Given the description of an element on the screen output the (x, y) to click on. 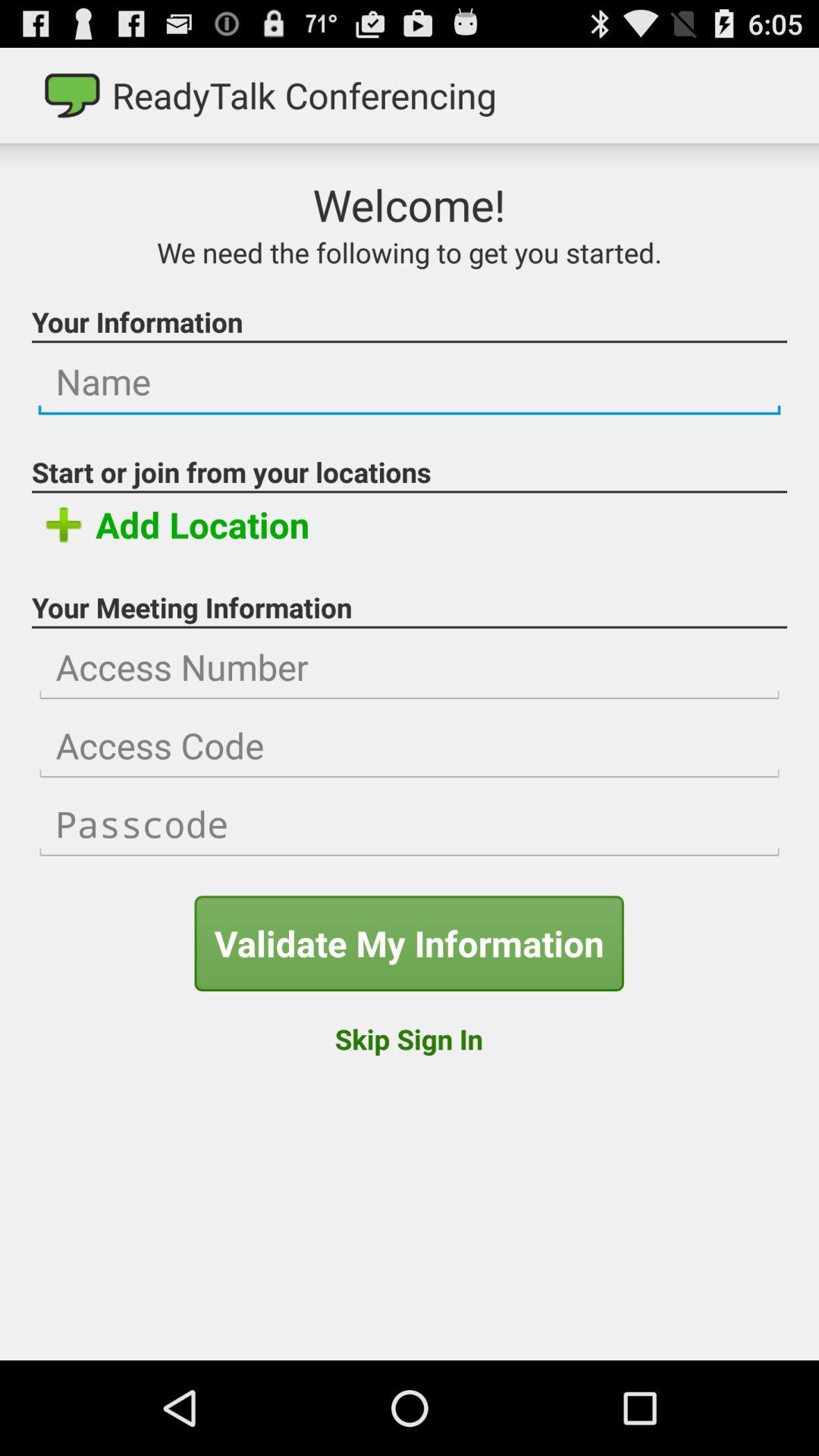
access number (409, 667)
